Given the description of an element on the screen output the (x, y) to click on. 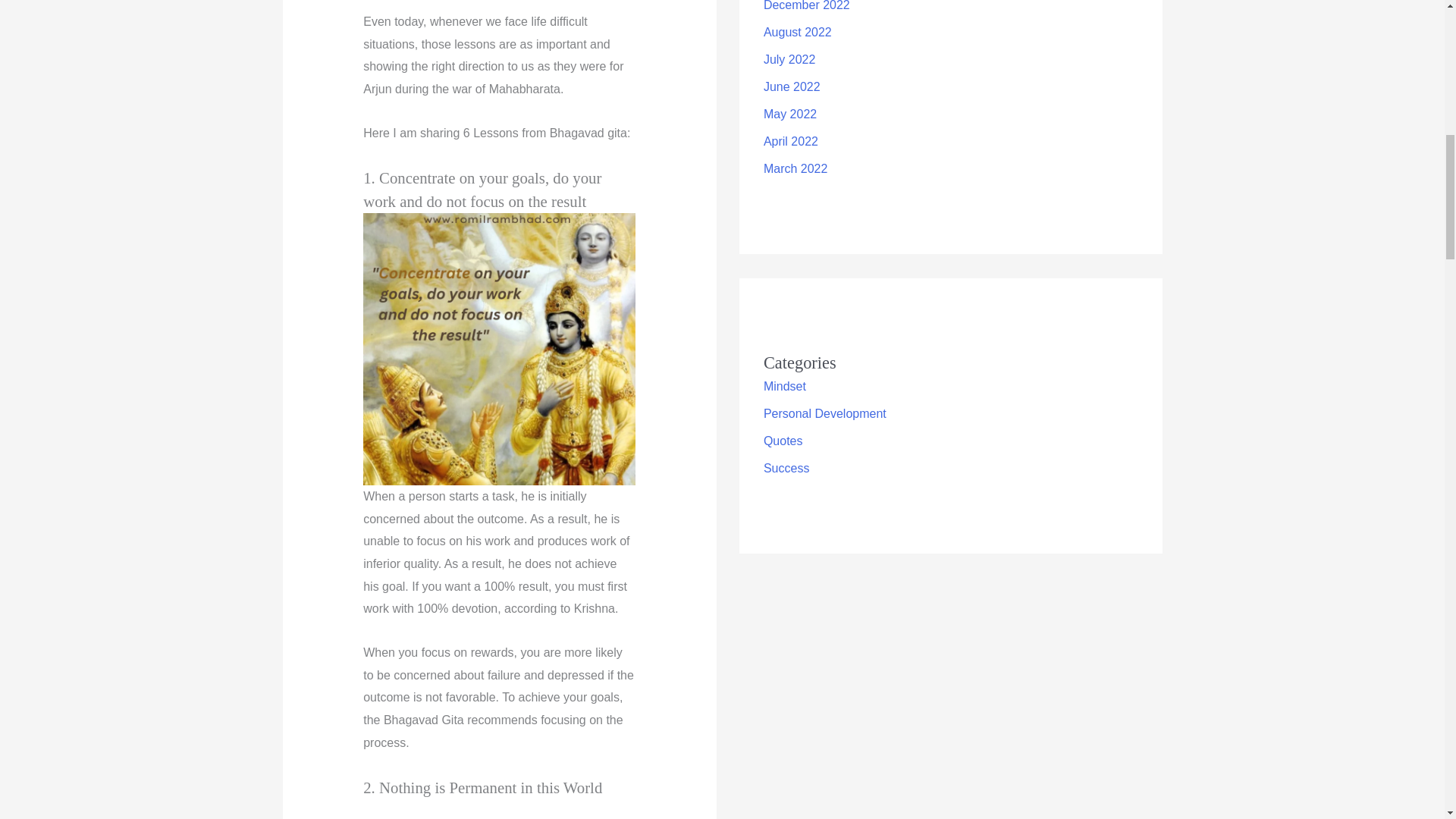
May 2022 (789, 113)
December 2022 (806, 5)
August 2022 (796, 31)
June 2022 (791, 86)
July 2022 (788, 59)
